Given the description of an element on the screen output the (x, y) to click on. 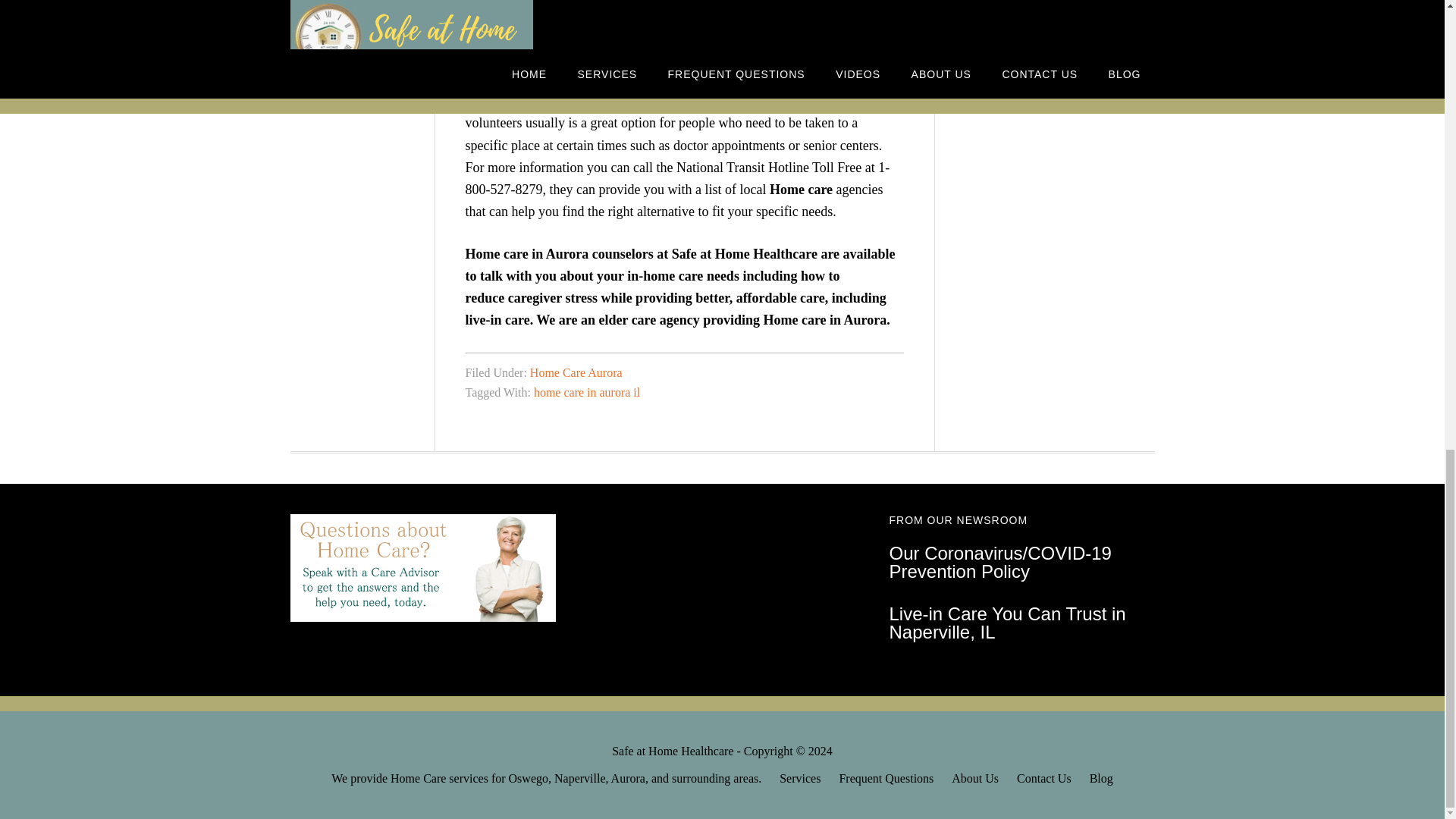
Home care (801, 189)
Home care in Aurora (824, 319)
home care in aurora il (587, 391)
Home Care in Aurora IL (801, 189)
Home Care in Aurora IL (824, 319)
Safe at Home Healthcare (743, 253)
Home Care Aurora (576, 372)
